Given the description of an element on the screen output the (x, y) to click on. 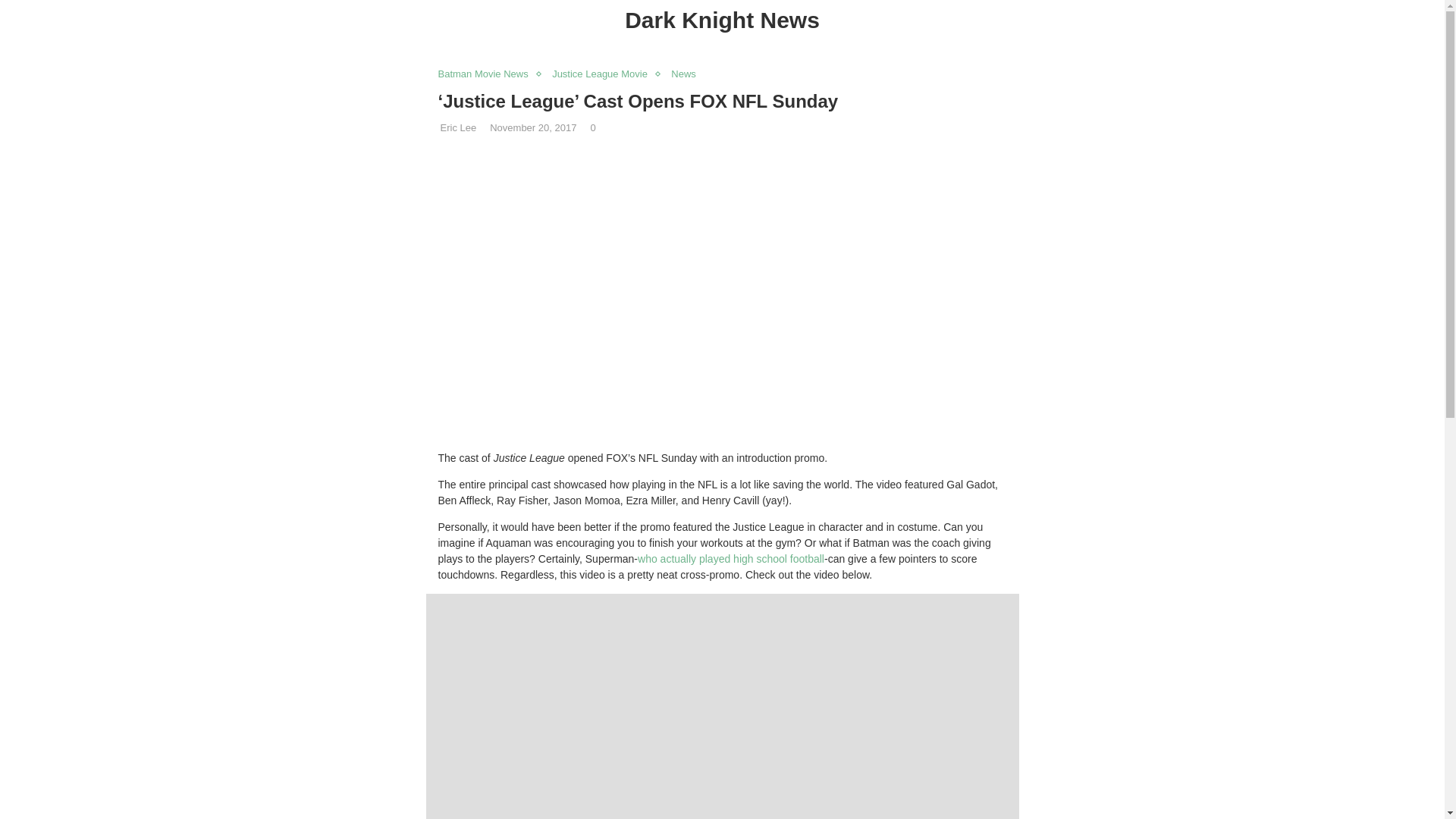
News (687, 73)
November 20, 2017 (532, 127)
who actually played high school football (730, 558)
0 (591, 127)
Justice League Movie (603, 73)
Batman Movie News (486, 73)
